Given the description of an element on the screen output the (x, y) to click on. 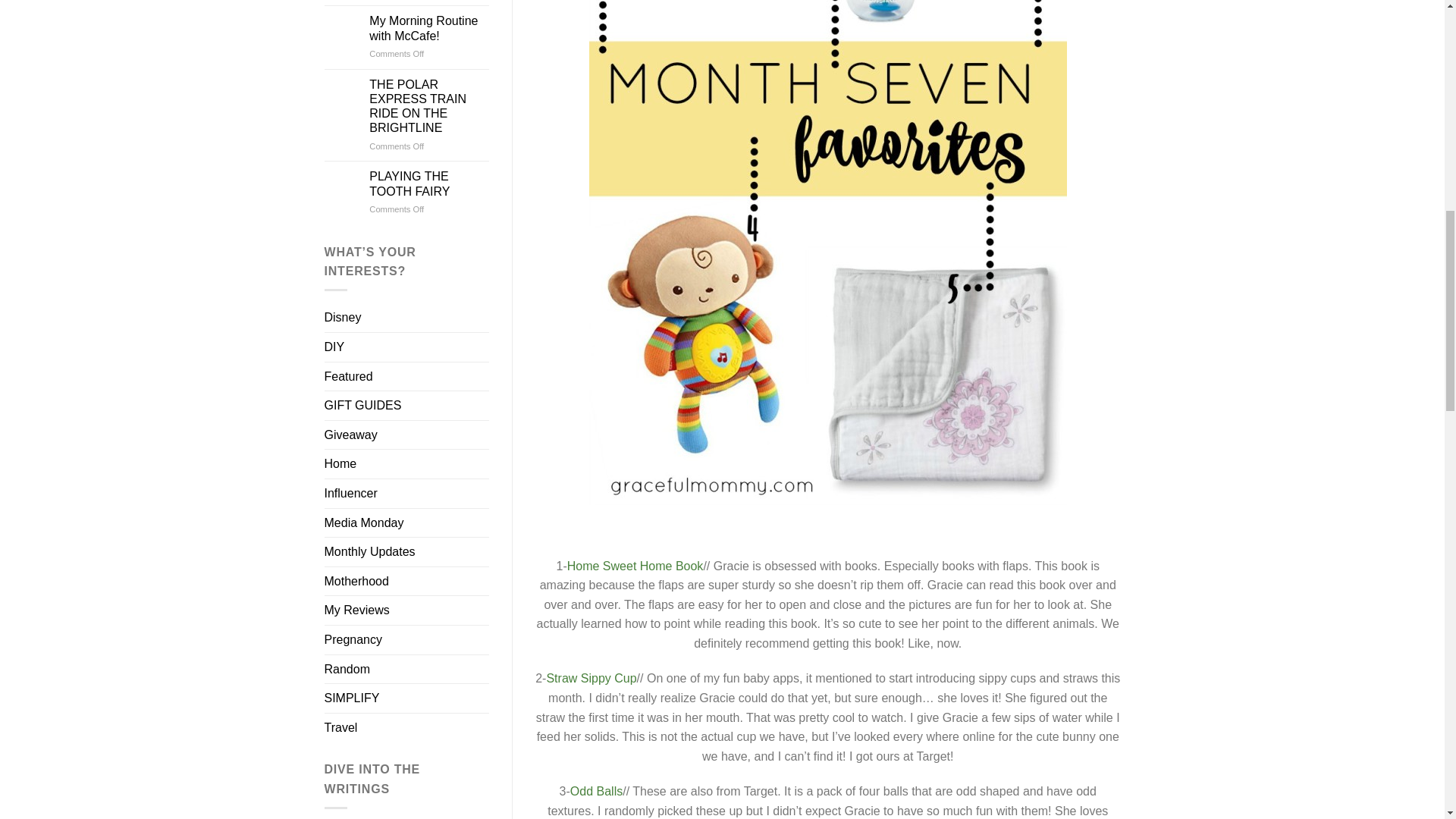
My Reviews (357, 610)
Home (340, 463)
Pregnancy (353, 639)
Influencer (350, 493)
Motherhood (356, 581)
My Morning Routine with McCafe! (429, 27)
PLAYING THE TOOTH FAIRY (429, 183)
Random (346, 669)
Monthly Updates (369, 551)
THE POLAR EXPRESS TRAIN RIDE ON THE BRIGHTLINE (429, 105)
